Given the description of an element on the screen output the (x, y) to click on. 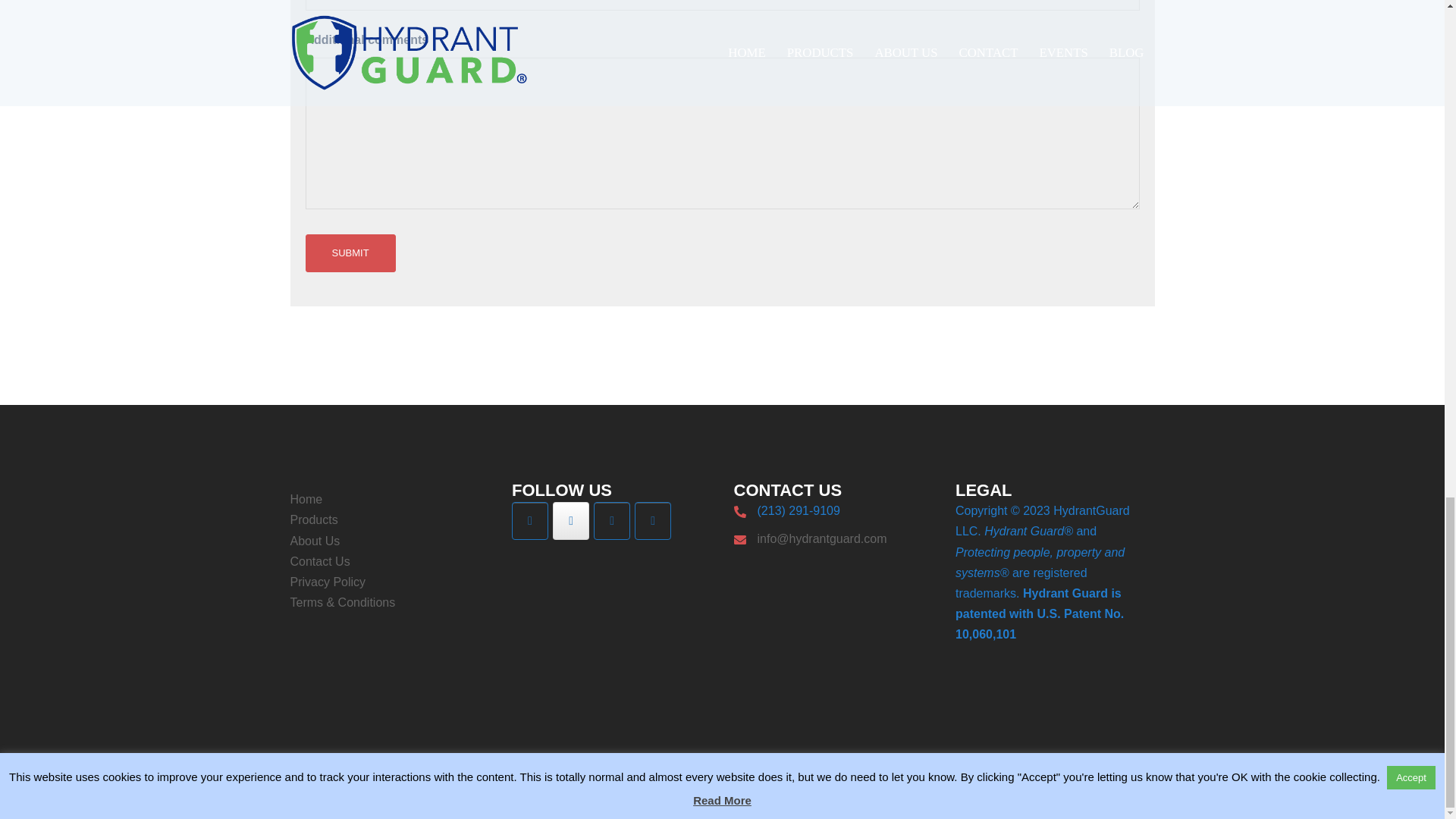
Contact Us (319, 561)
Hydrant Guard on Instagram (530, 520)
Hydrant Guard on X Twitter (571, 520)
Hydrant Guard on Facebook (652, 520)
Submit (349, 252)
Hydrant Guard on Linkedin (612, 520)
Products (313, 519)
Privacy Policy (327, 581)
Sydney (549, 792)
About Us (314, 540)
Submit (349, 252)
Home (305, 499)
